Given the description of an element on the screen output the (x, y) to click on. 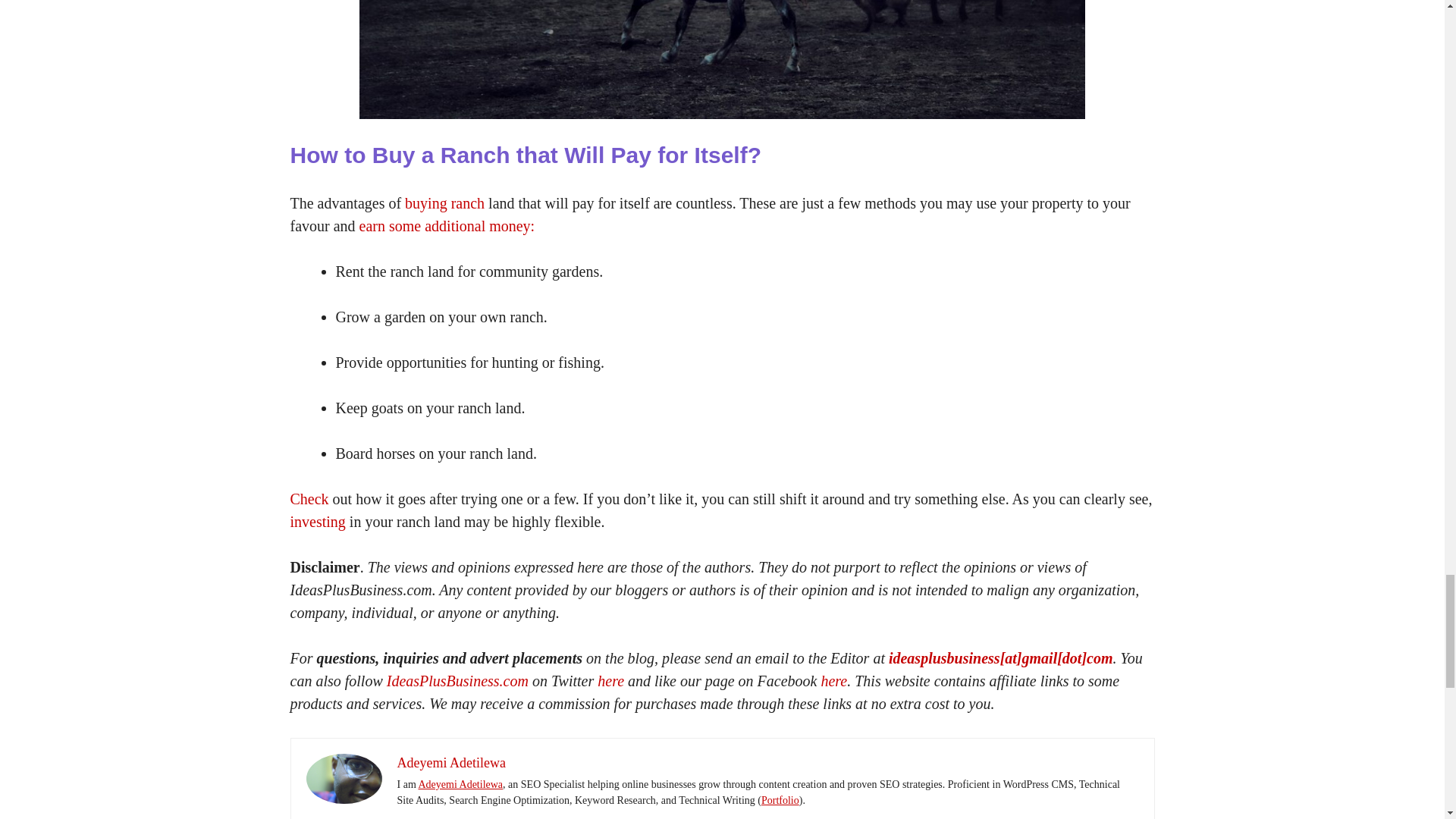
How to Buy a Ranch that Will Pay for Itself 3 (721, 59)
How to Buy a Ranch that Will Pay for Itself 4 (343, 778)
